Given the description of an element on the screen output the (x, y) to click on. 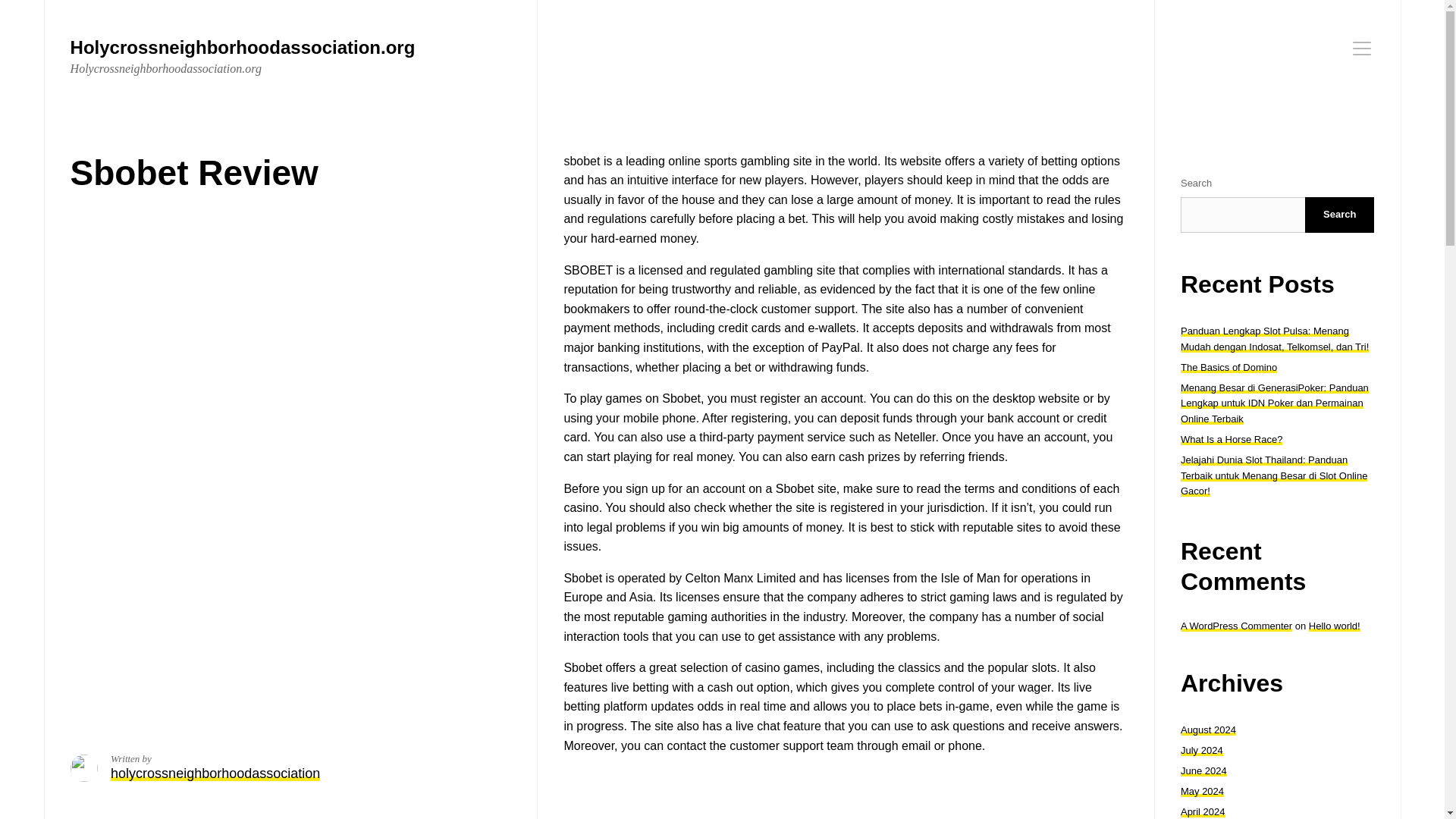
A WordPress Commenter (1236, 625)
June 2024 (1203, 770)
August 2024 (1208, 729)
July 2024 (1201, 749)
Menu (1361, 48)
May 2024 (1202, 790)
